Given the description of an element on the screen output the (x, y) to click on. 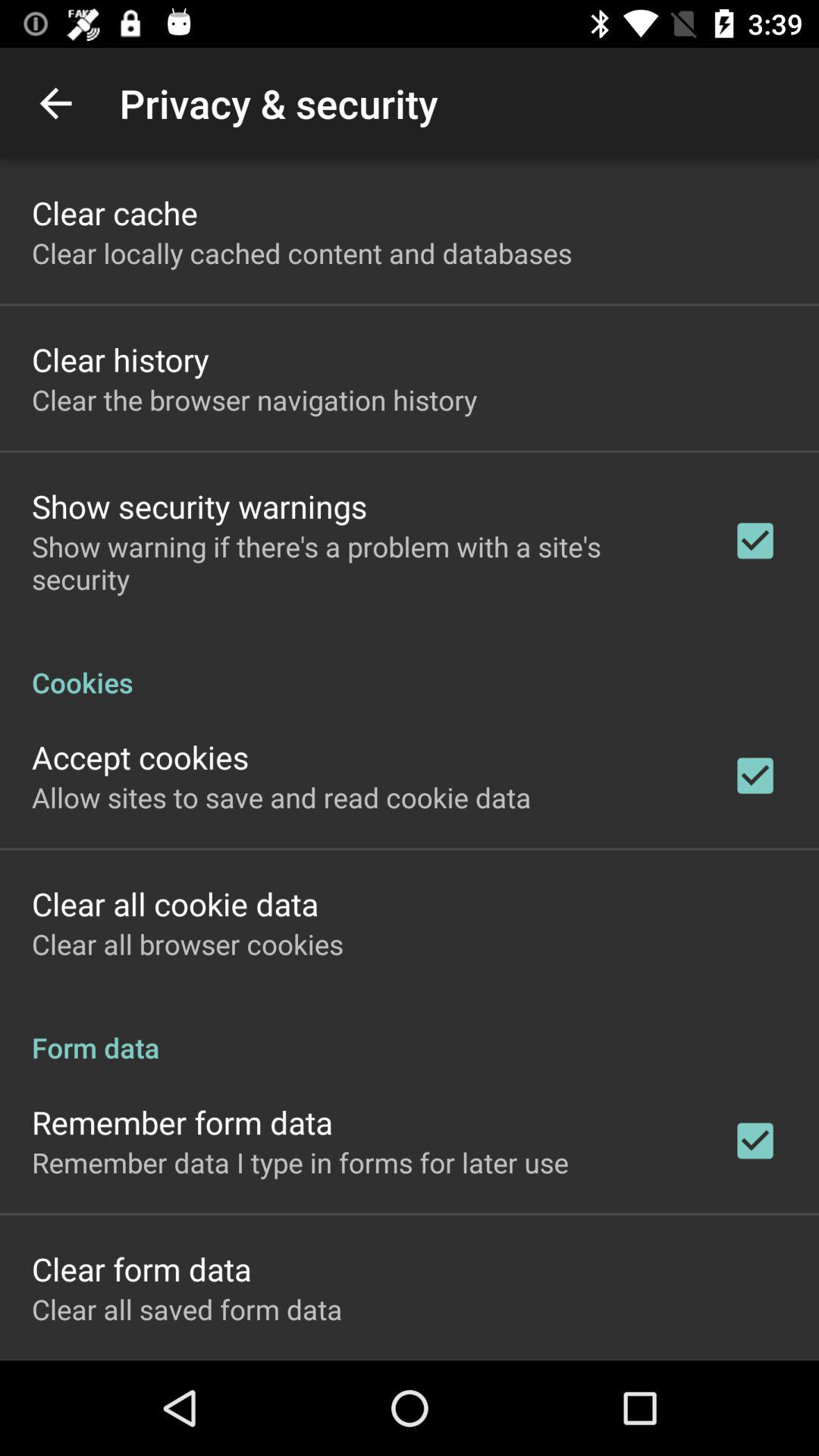
tap the icon below show security warnings app (361, 562)
